Given the description of an element on the screen output the (x, y) to click on. 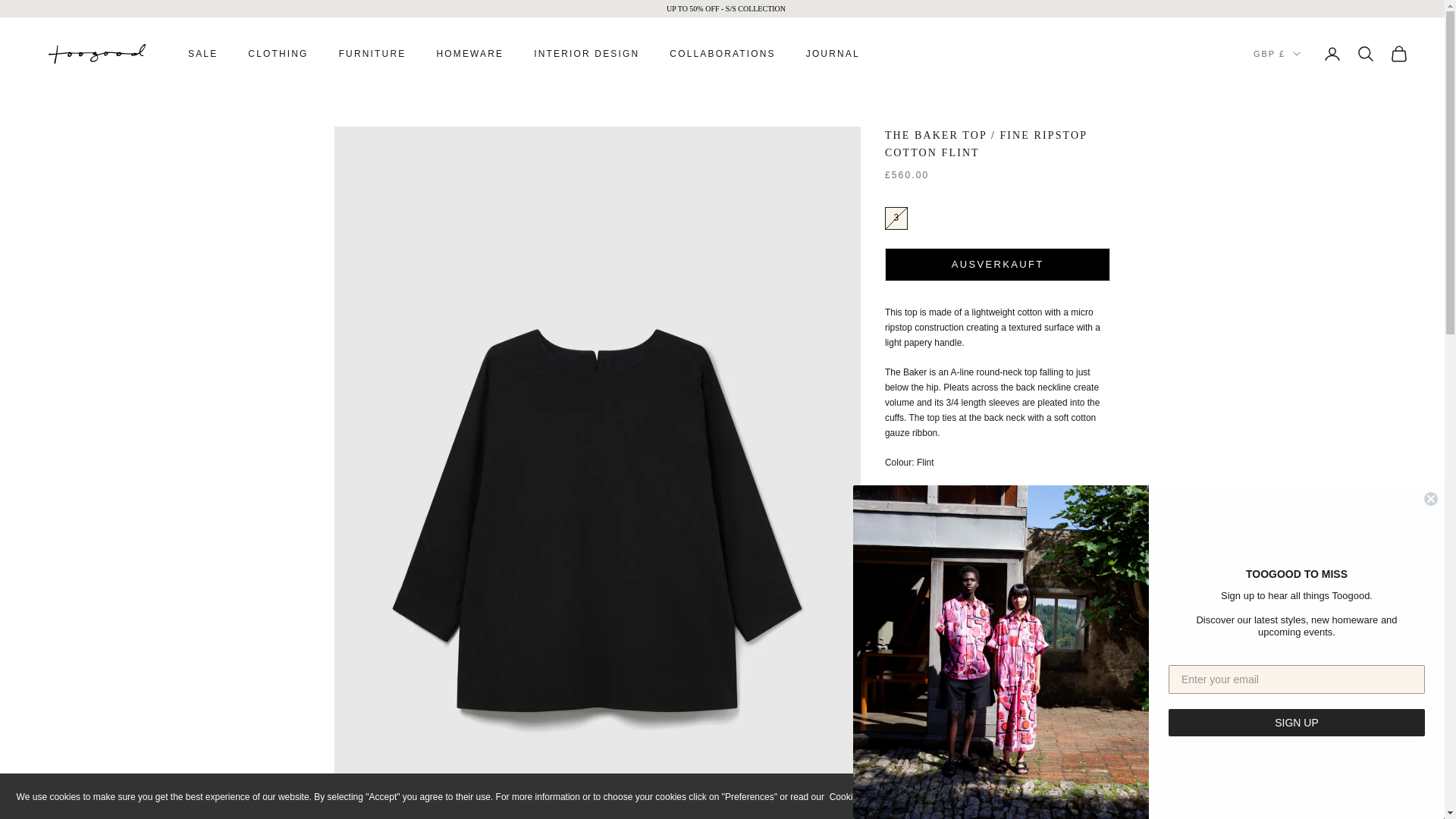
Close dialog 1 (1430, 498)
SALE (201, 53)
Toogood (96, 53)
